Given the description of an element on the screen output the (x, y) to click on. 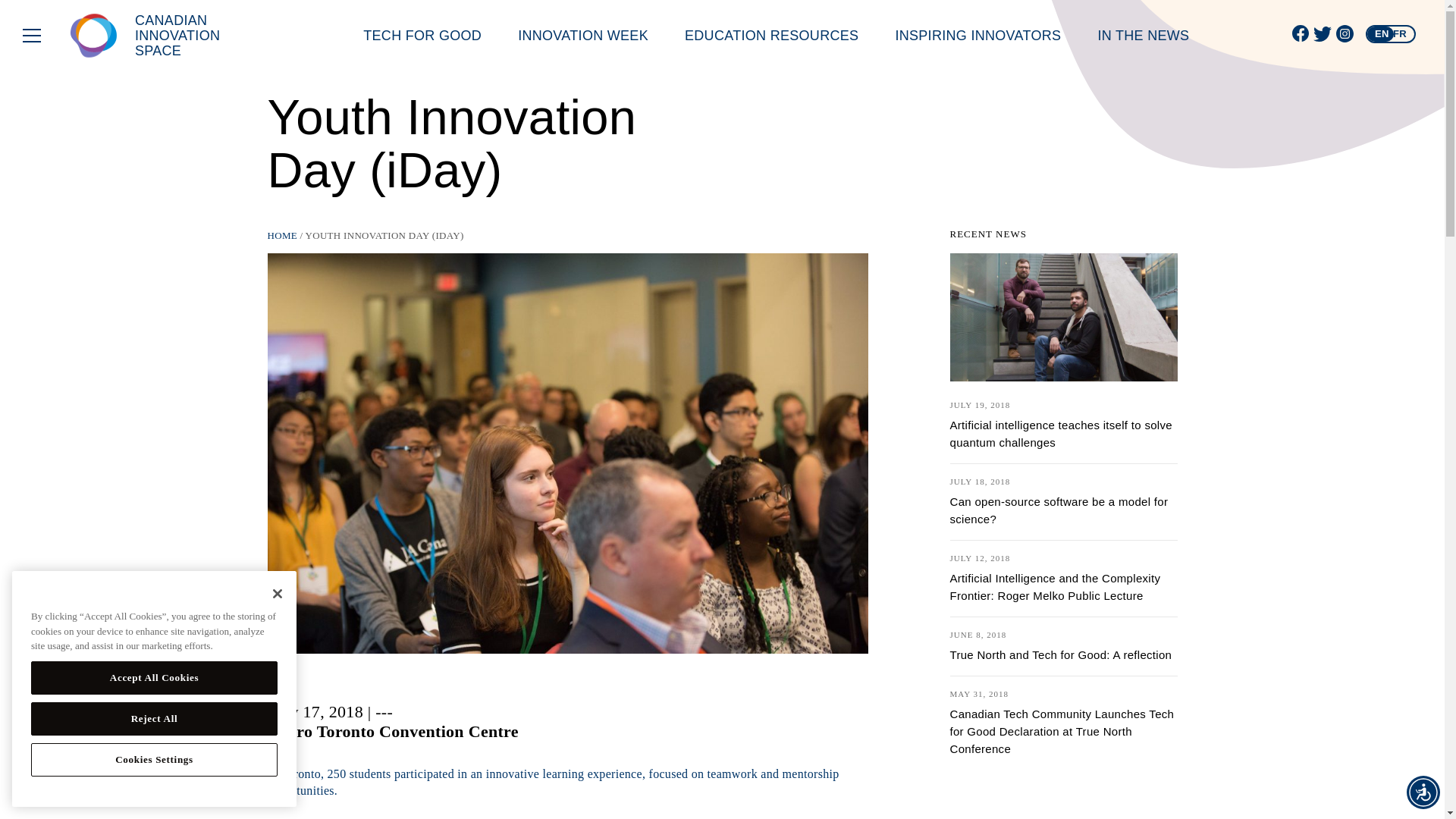
FR (1399, 33)
HOME (281, 235)
IN THE NEWS (1143, 35)
INNOVATION WEEK (582, 35)
TECH FOR GOOD (421, 35)
EN (1381, 33)
EDUCATION RESOURCES (771, 35)
Accessibility Menu (1422, 792)
INSPIRING INNOVATORS (978, 35)
Toggle menu (31, 35)
CANADIAN INNOVATION SPACE (159, 35)
